Given the description of an element on the screen output the (x, y) to click on. 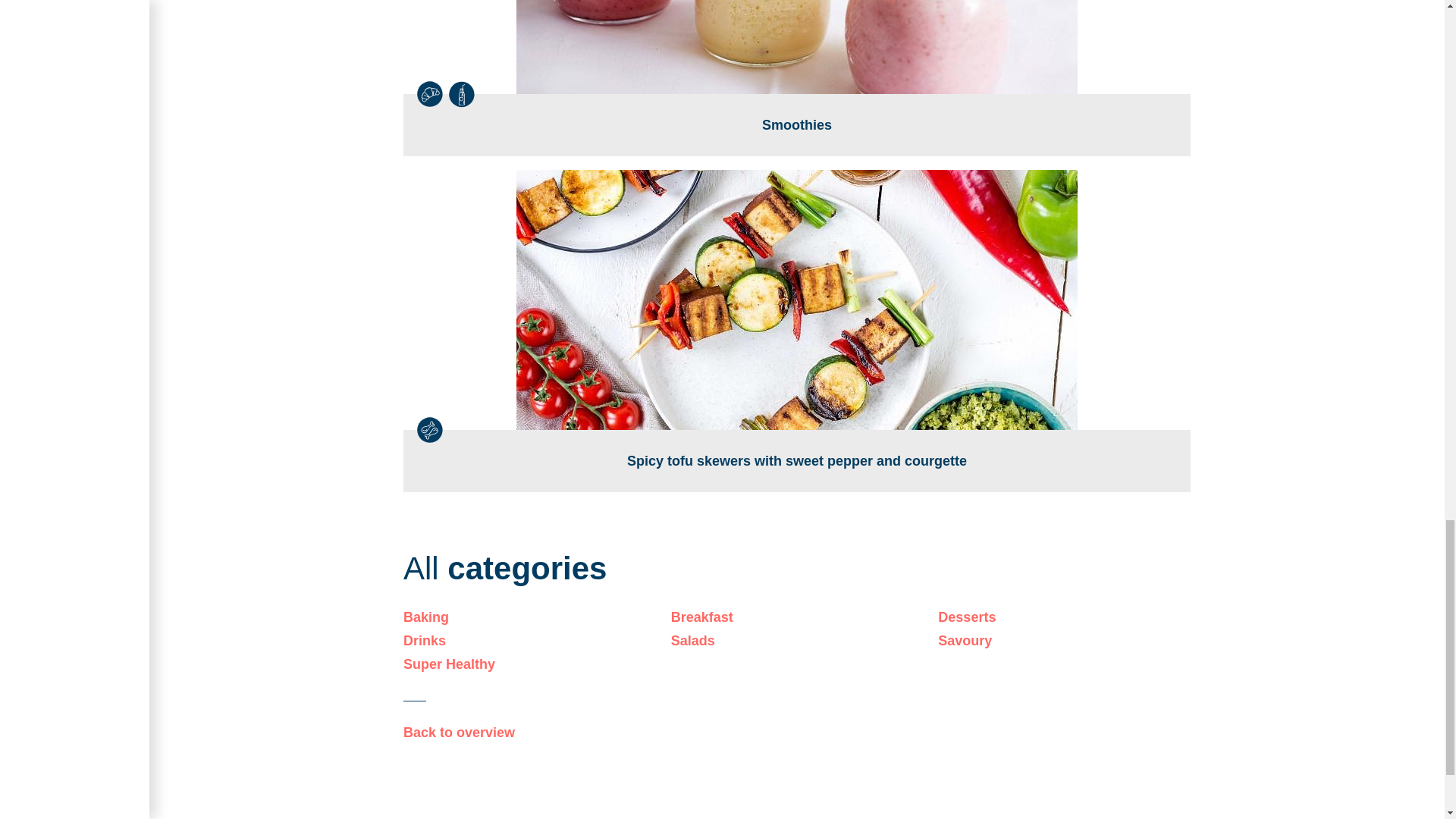
Smoothies (797, 77)
Baking (529, 616)
Salads (797, 640)
Drinks (529, 640)
Desserts (1064, 616)
Breakfast (797, 616)
